Given the description of an element on the screen output the (x, y) to click on. 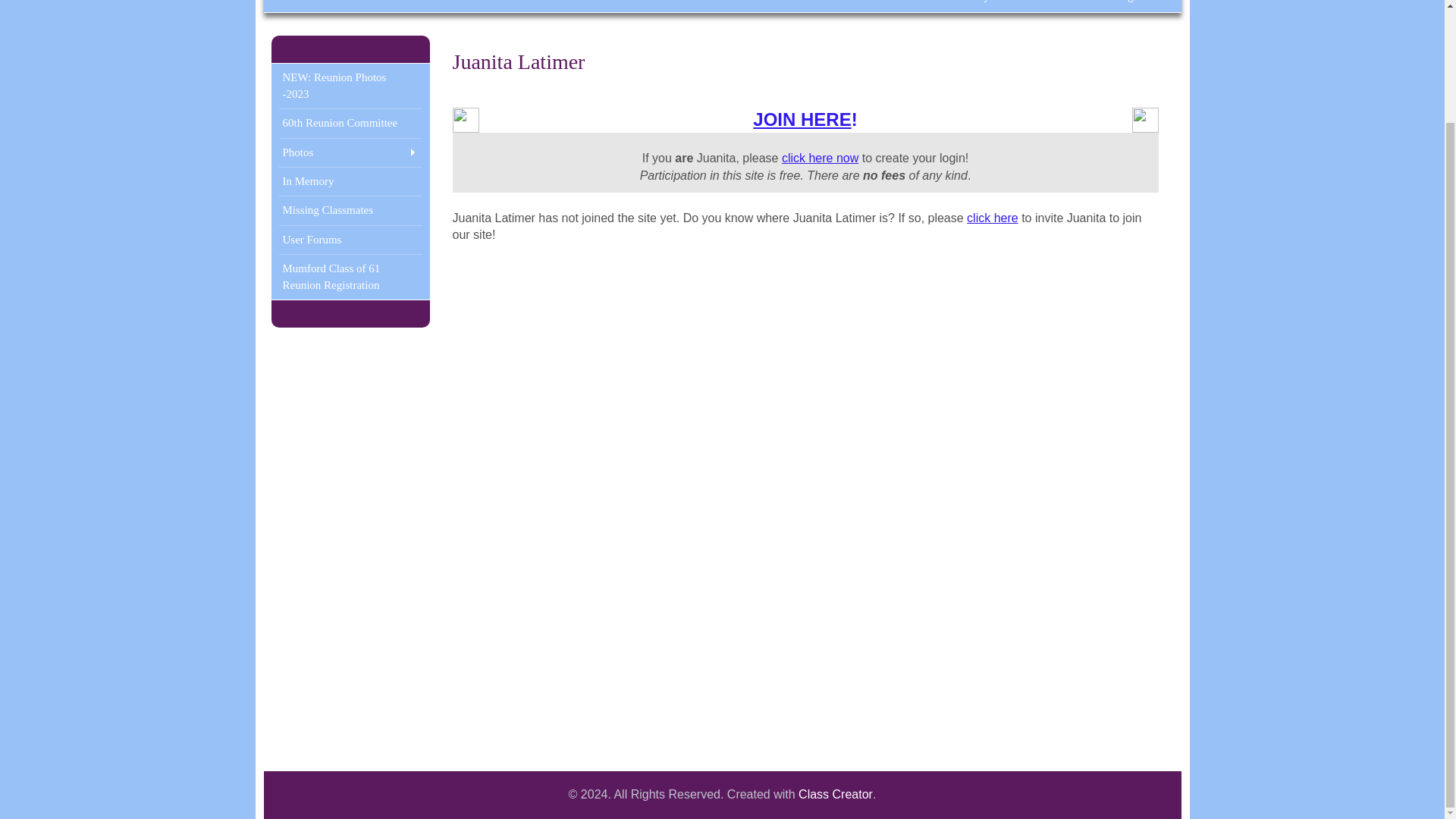
Home Page (1110, 6)
60th Reunion Committee (350, 123)
NEW: Reunion Photos -2023 (350, 85)
JOIN HERE! (804, 118)
click here (991, 217)
Mumford Today (950, 6)
click here now (820, 157)
Missing Classmates (350, 209)
Photos (350, 152)
Mumford Class of 61 Reunion Registration (350, 276)
